Given the description of an element on the screen output the (x, y) to click on. 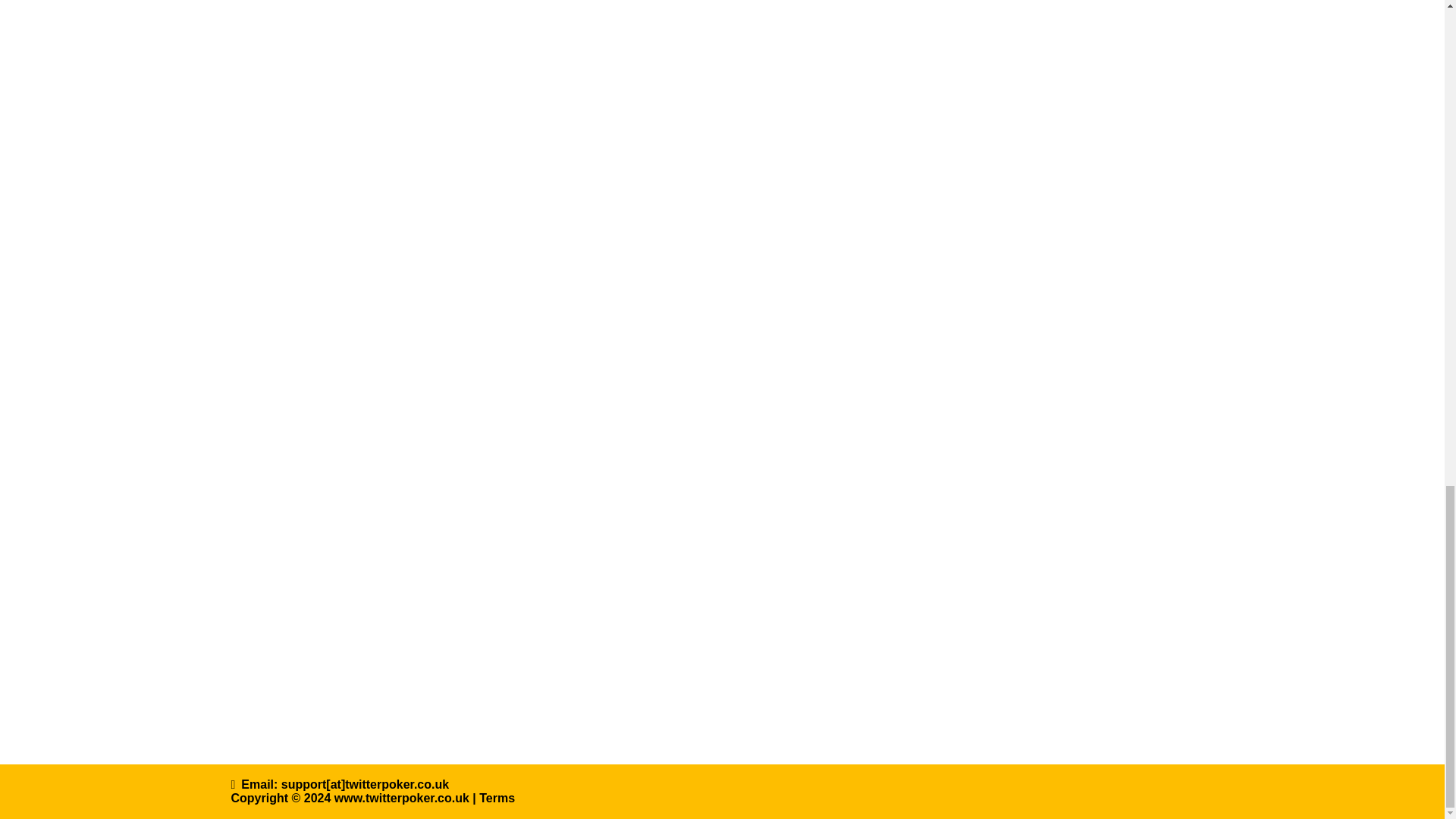
www.twitterpoker.co.uk (401, 797)
Terms (497, 797)
